Given the description of an element on the screen output the (x, y) to click on. 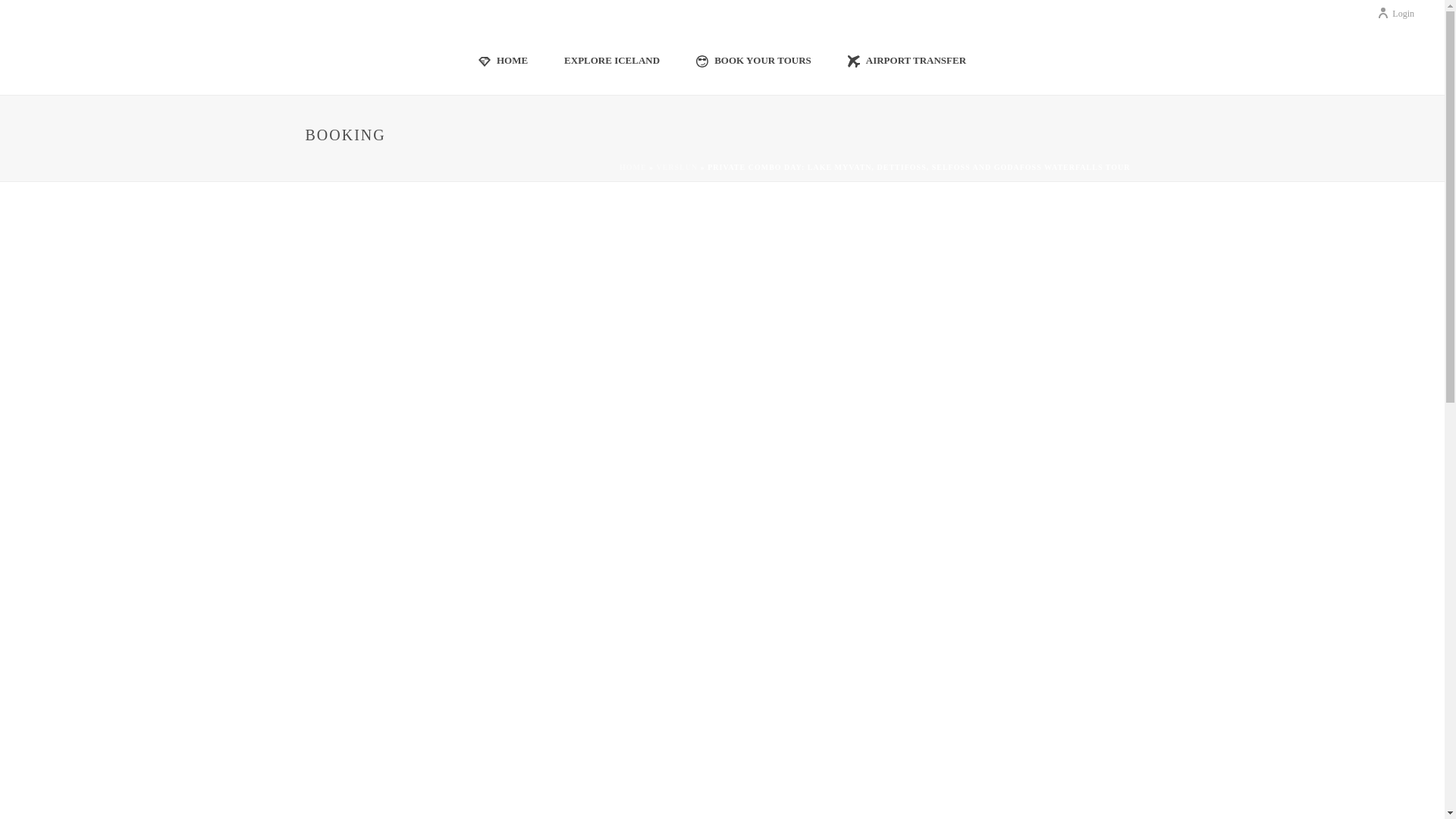
EXPLORE ICELAND (612, 59)
HOME (502, 59)
BOOK YOUR TOURS (753, 59)
VERSLUN (676, 166)
HOME (502, 59)
AIRPORT TRANSFER (906, 59)
BOOK YOUR TOURS (753, 59)
AIRPORT TRANSFER (906, 59)
Login (1395, 13)
HOME (633, 166)
EXPLORE ICELAND (612, 59)
